Given the description of an element on the screen output the (x, y) to click on. 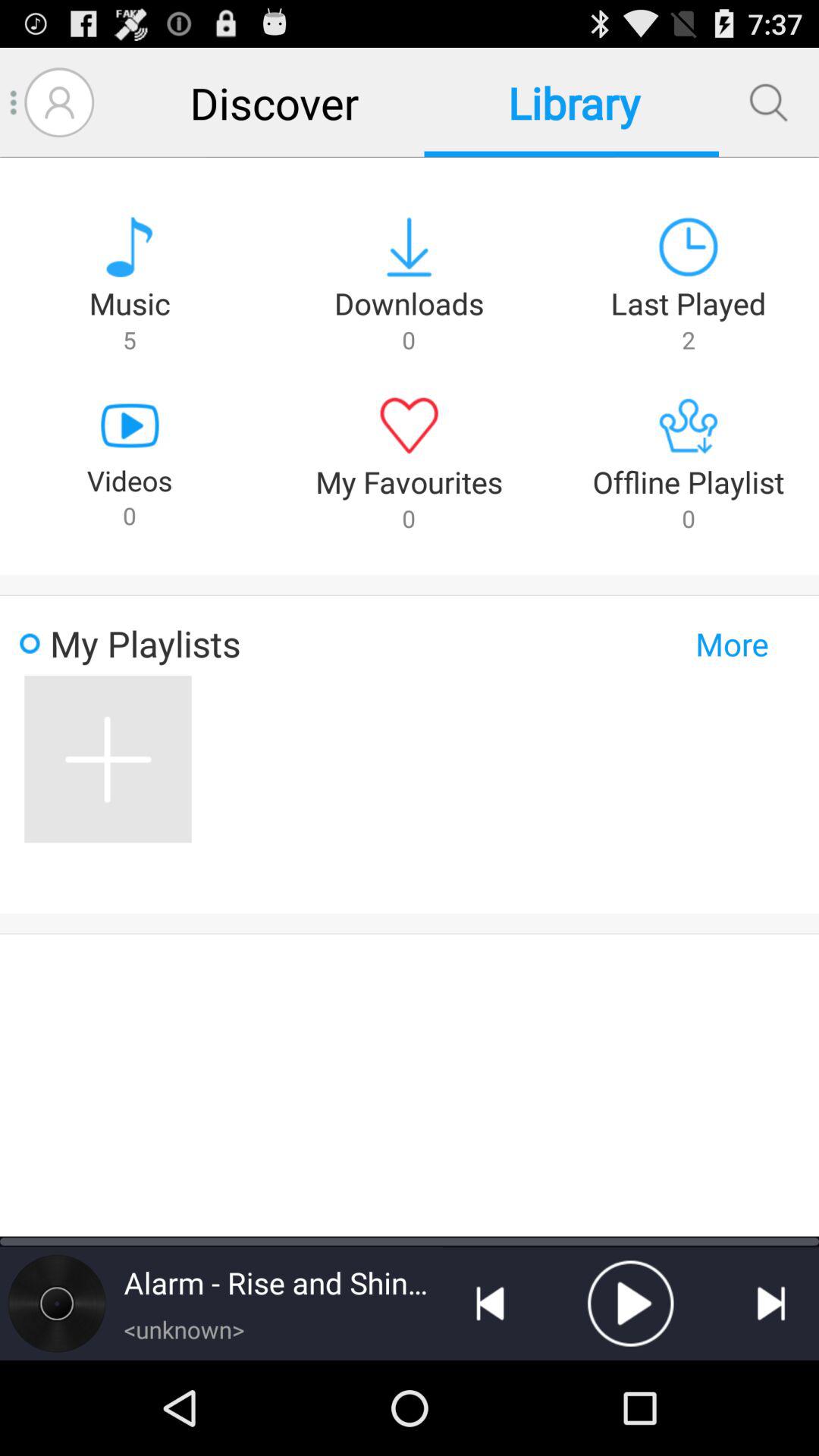
look at song info (56, 1303)
